Given the description of an element on the screen output the (x, y) to click on. 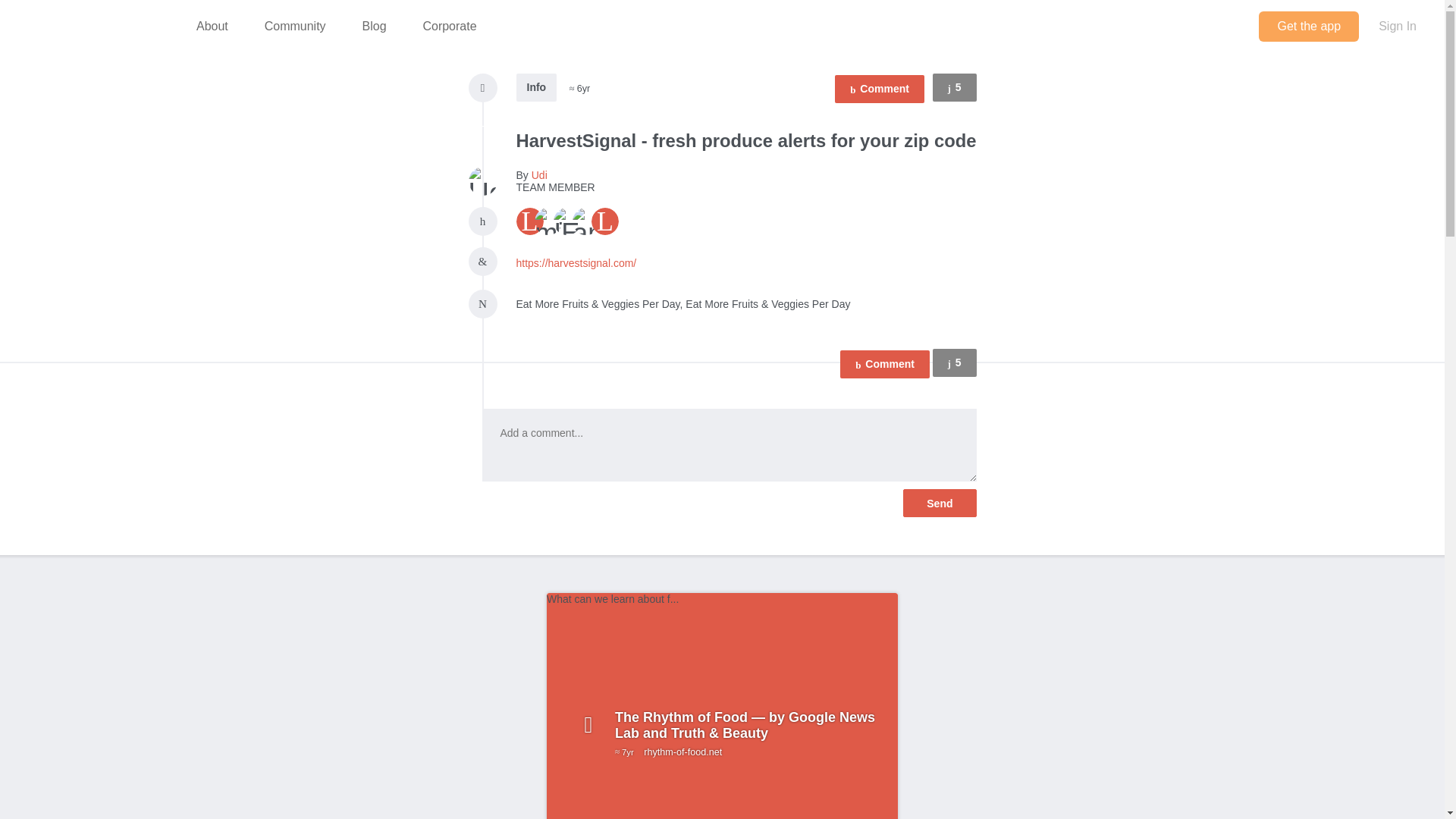
Corporate (449, 26)
Send (954, 362)
Send (938, 502)
Udi (938, 502)
Get the app (539, 174)
FOODSTAND (954, 87)
Community (1300, 26)
Info (93, 26)
